Given the description of an element on the screen output the (x, y) to click on. 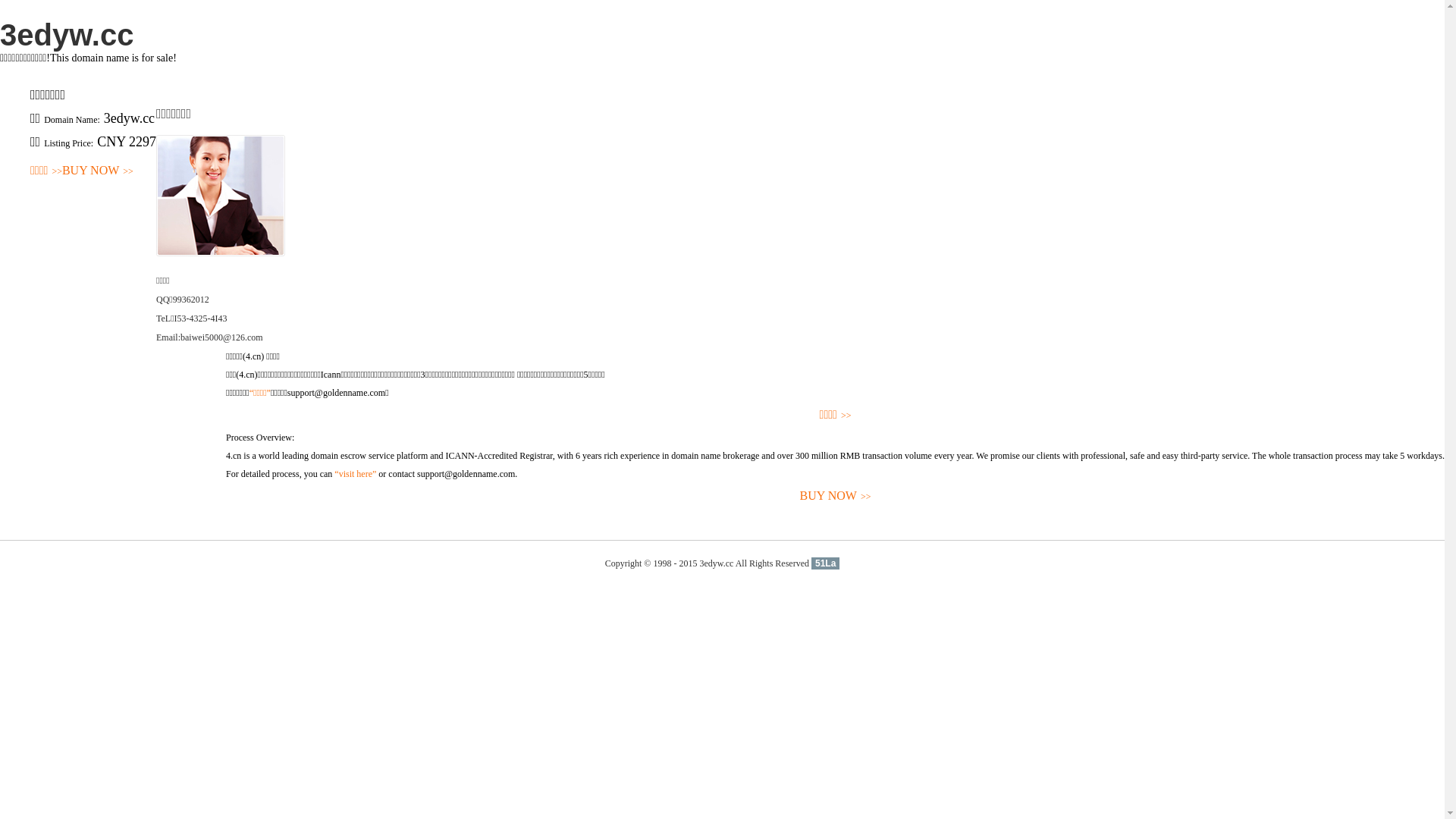
BUY NOW>> Element type: text (834, 496)
BUY NOW>> Element type: text (97, 170)
51La Element type: text (825, 563)
